Given the description of an element on the screen output the (x, y) to click on. 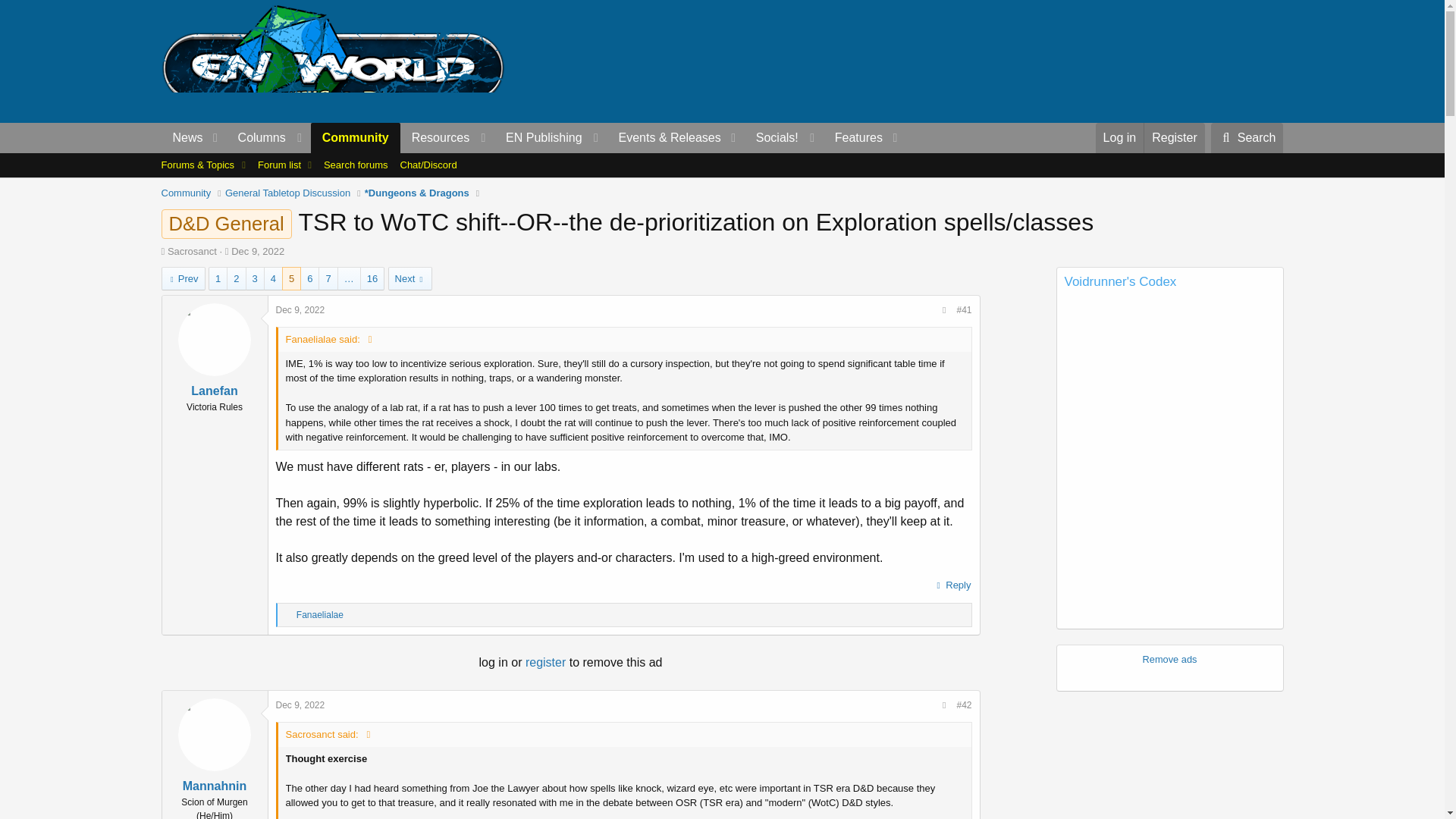
Columns (269, 137)
Dec 9, 2022 at 4:24 PM (257, 251)
Go to page (348, 278)
News (181, 137)
Dec 9, 2022 at 8:55 PM (300, 309)
Reply, quoting this message (952, 585)
Dec 9, 2022 at 9:07 PM (300, 705)
Like (288, 615)
Search (1247, 137)
Community (355, 137)
